Given the description of an element on the screen output the (x, y) to click on. 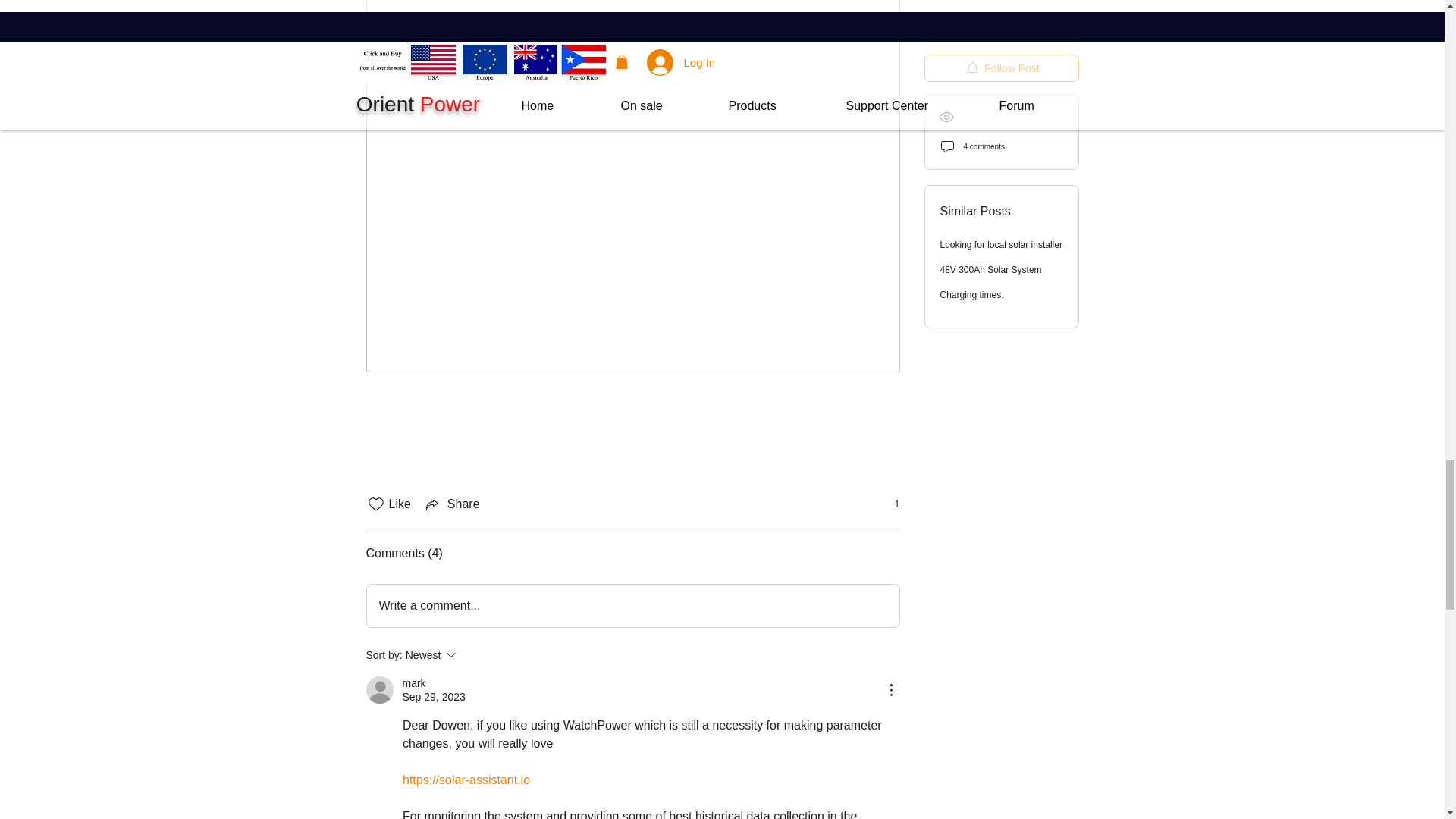
1 (888, 503)
mark (471, 655)
Write a comment... (413, 683)
Share (632, 605)
